Given the description of an element on the screen output the (x, y) to click on. 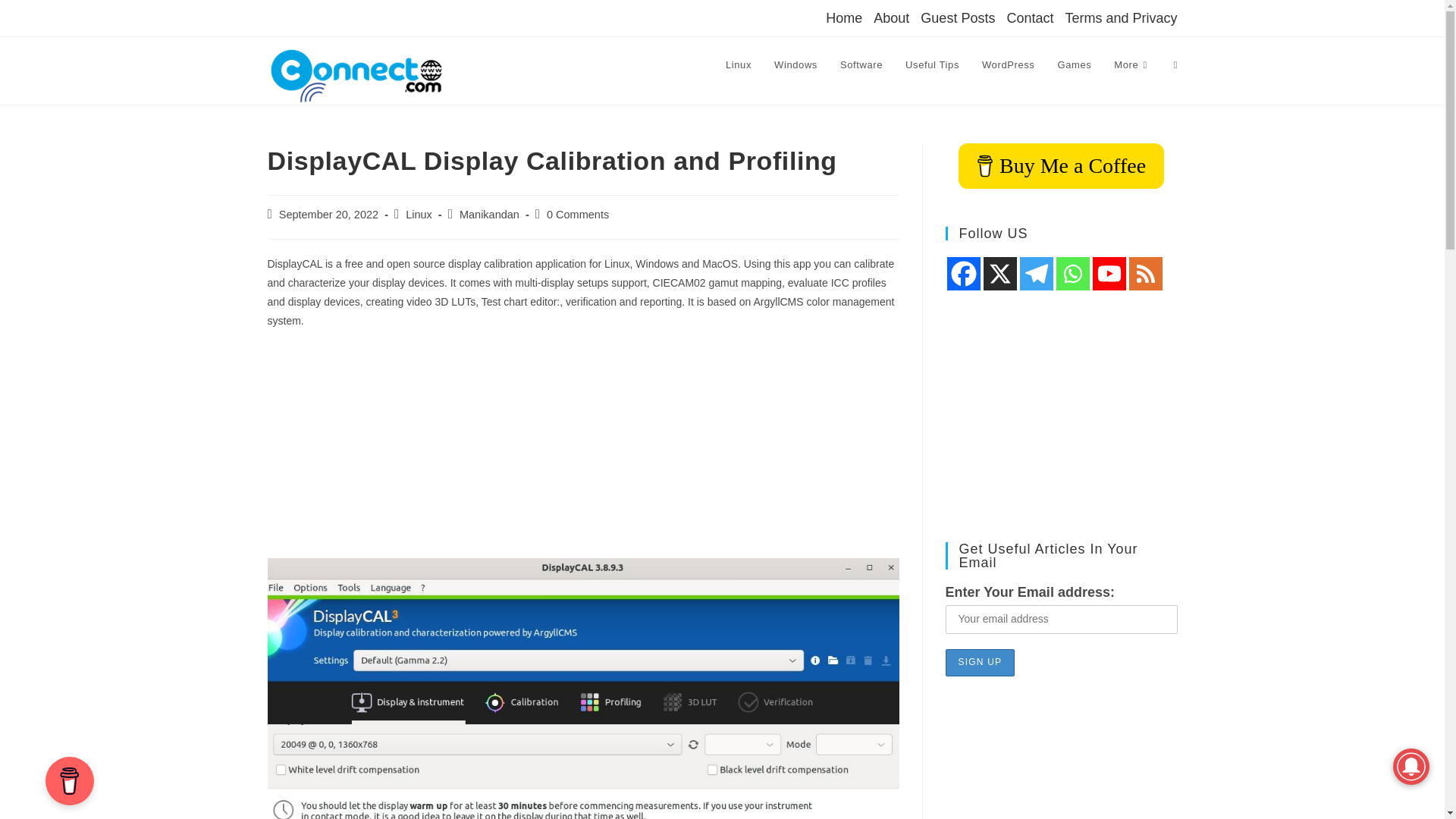
Facebook (962, 273)
Contact (1029, 17)
Posts by Manikandan (489, 214)
About (890, 17)
Useful Tips (932, 64)
Games (1073, 64)
Software (860, 64)
RSS feed (1144, 273)
More (1131, 64)
WordPress (1008, 64)
Home (843, 17)
Telegram (1035, 273)
Windows (795, 64)
Youtube Channel (1108, 273)
Advertisement (582, 451)
